Given the description of an element on the screen output the (x, y) to click on. 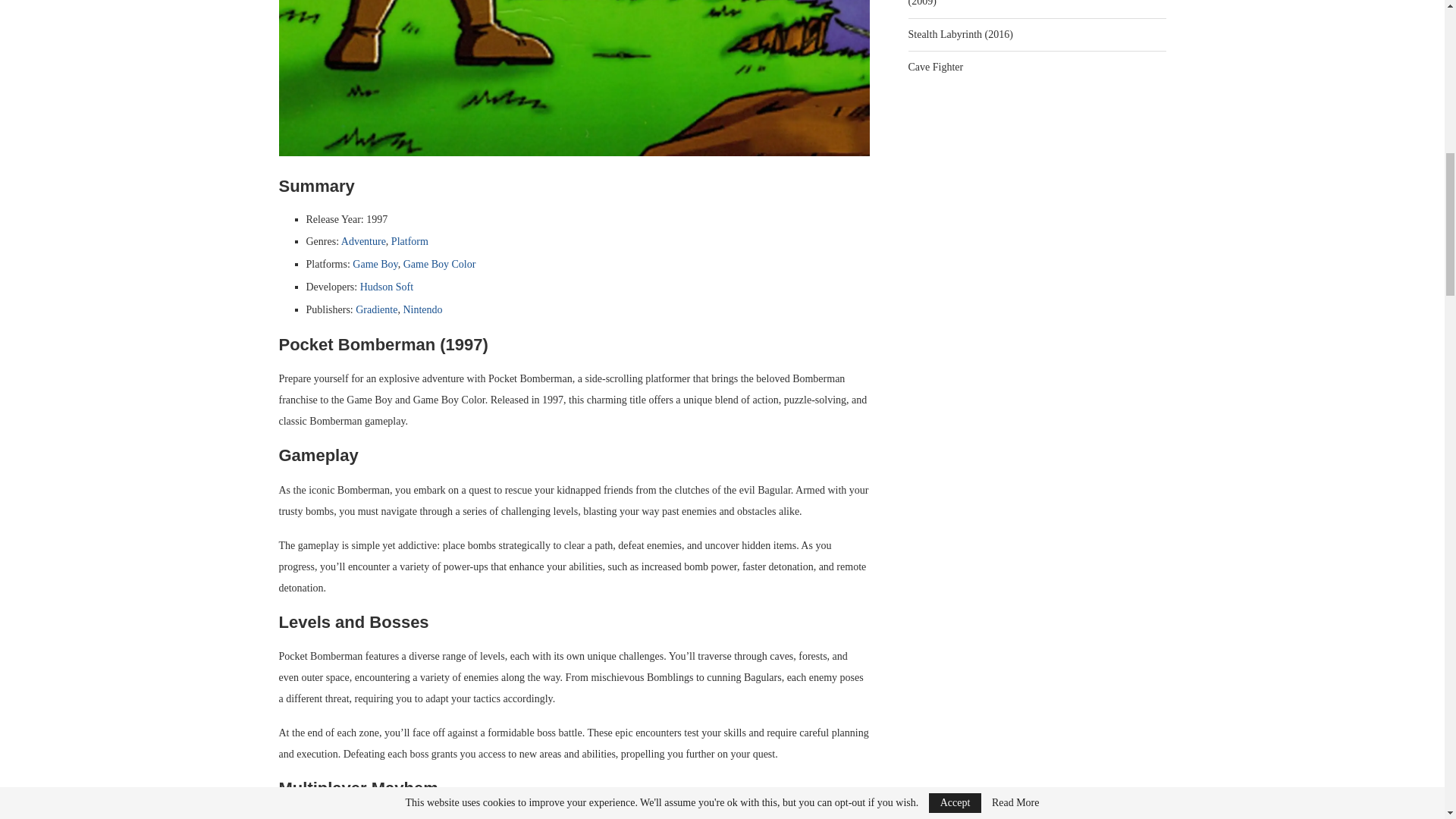
Cover: Pocket Bomberman (574, 78)
